Given the description of an element on the screen output the (x, y) to click on. 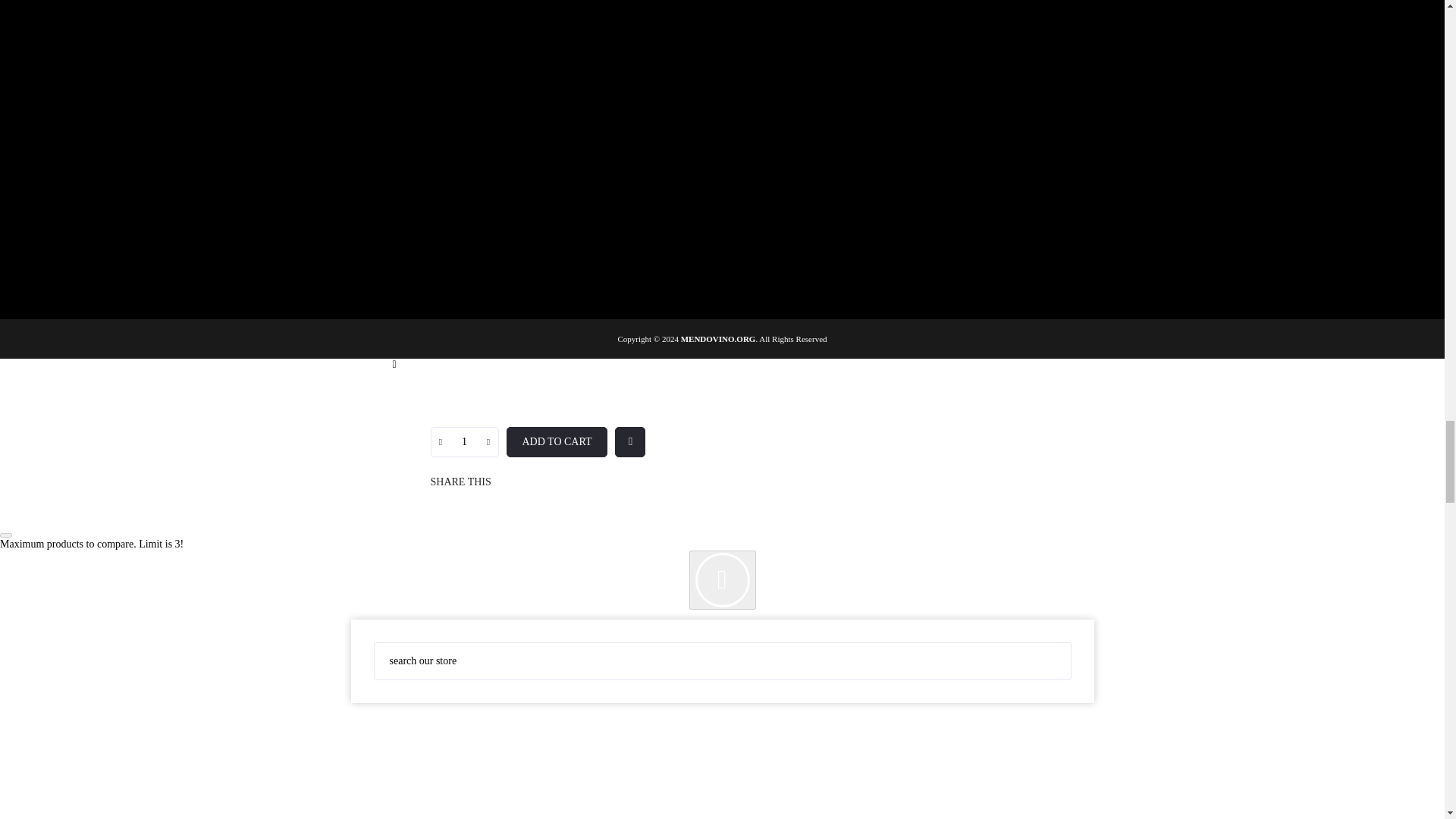
1 (464, 441)
